Given the description of an element on the screen output the (x, y) to click on. 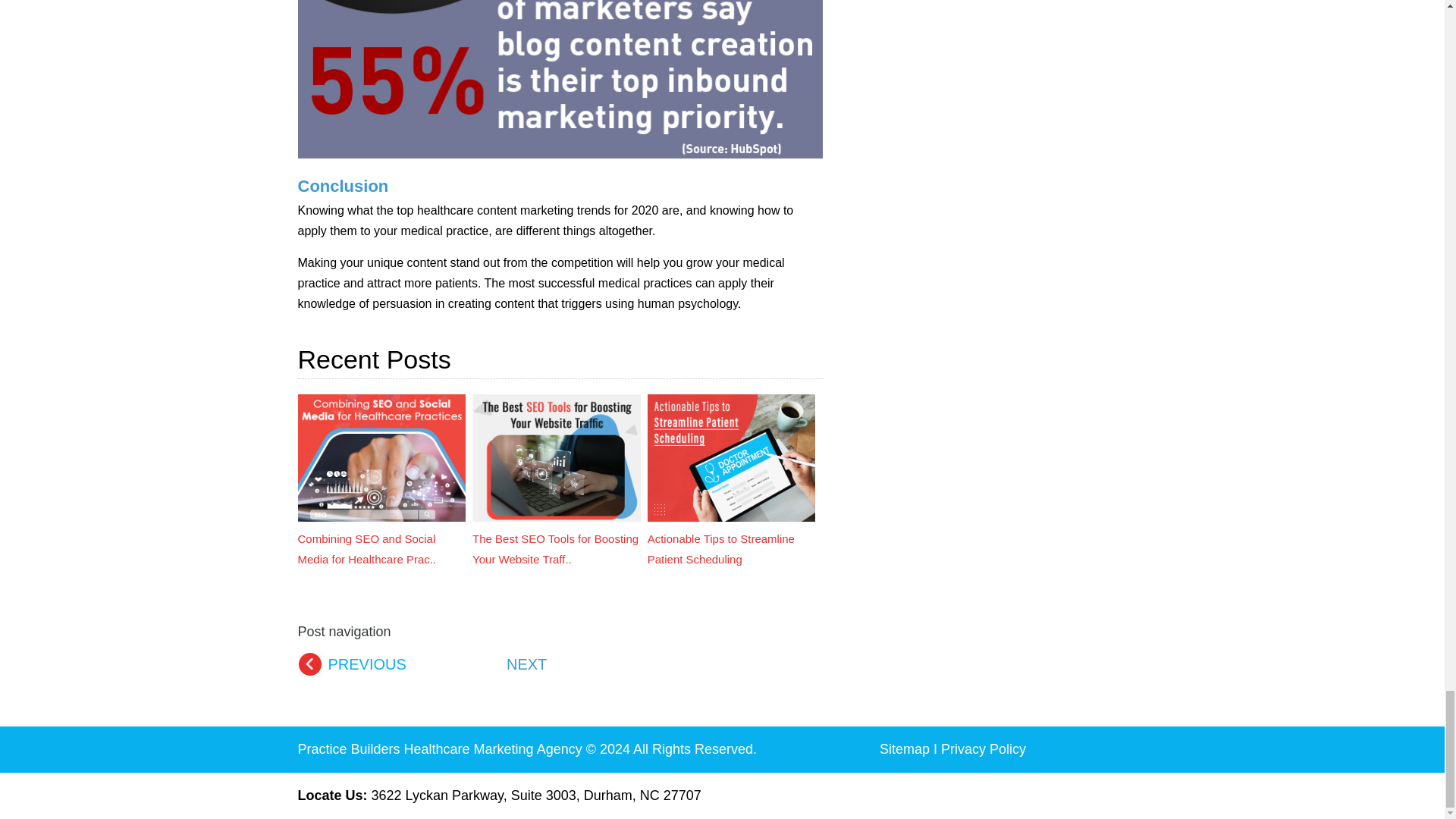
Actionable Tips to Streamline Patient Scheduling (731, 538)
Sitemap (904, 749)
Combining SEO and Social Media for Healthcare Practices (381, 457)
NEXT (526, 664)
PREVIOUS (366, 664)
Actionable Tips to Streamline Patient Scheduling (731, 457)
Combining SEO and Social Media for Healthcare Prac.. (381, 538)
Privacy Policy (983, 749)
The Best SEO Tools for Boosting Your Website Traff.. (555, 538)
The Best SEO Tools for Boosting Your Website Traffic (555, 457)
